Given the description of an element on the screen output the (x, y) to click on. 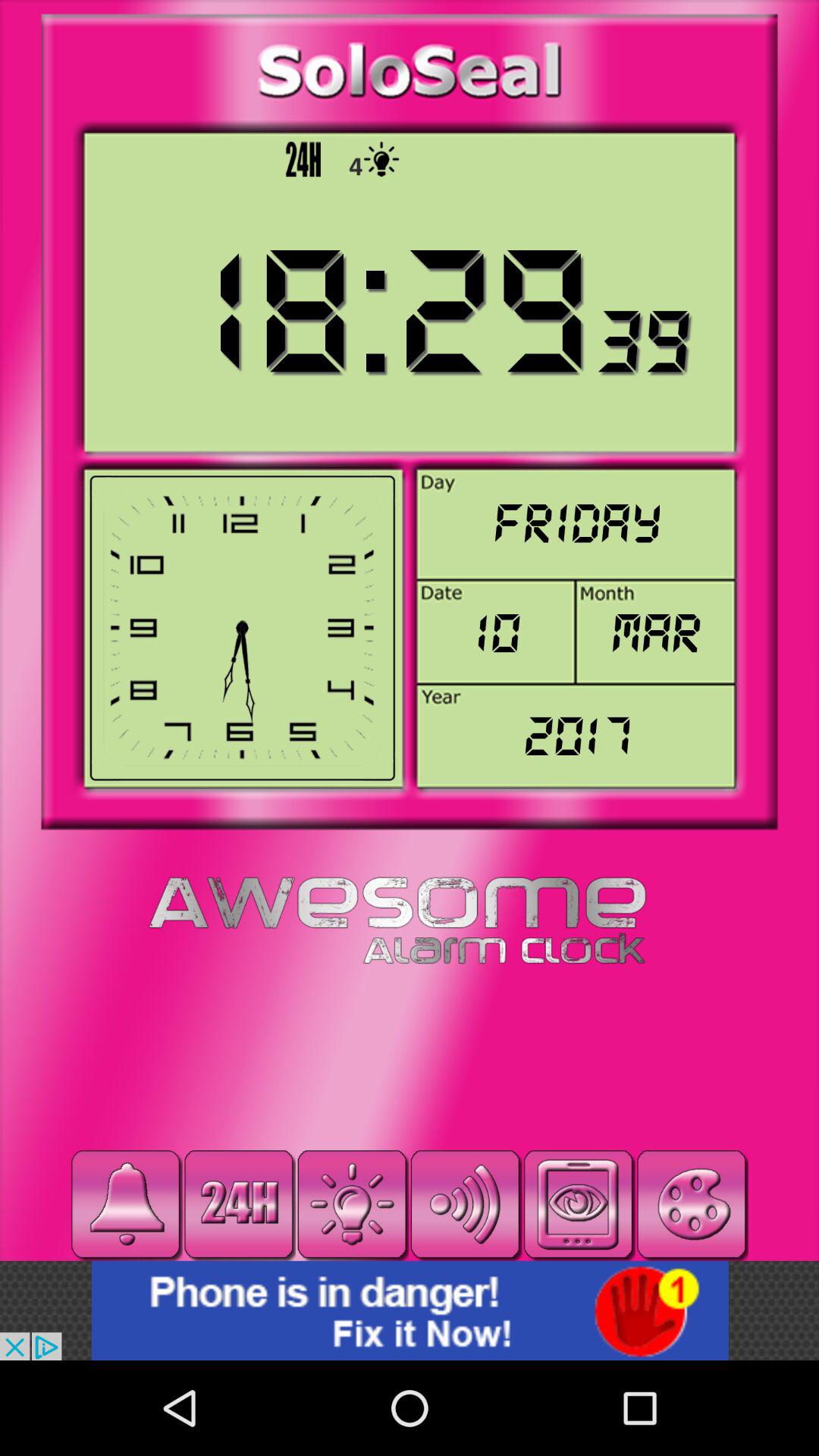
volume button (465, 1203)
